Given the description of an element on the screen output the (x, y) to click on. 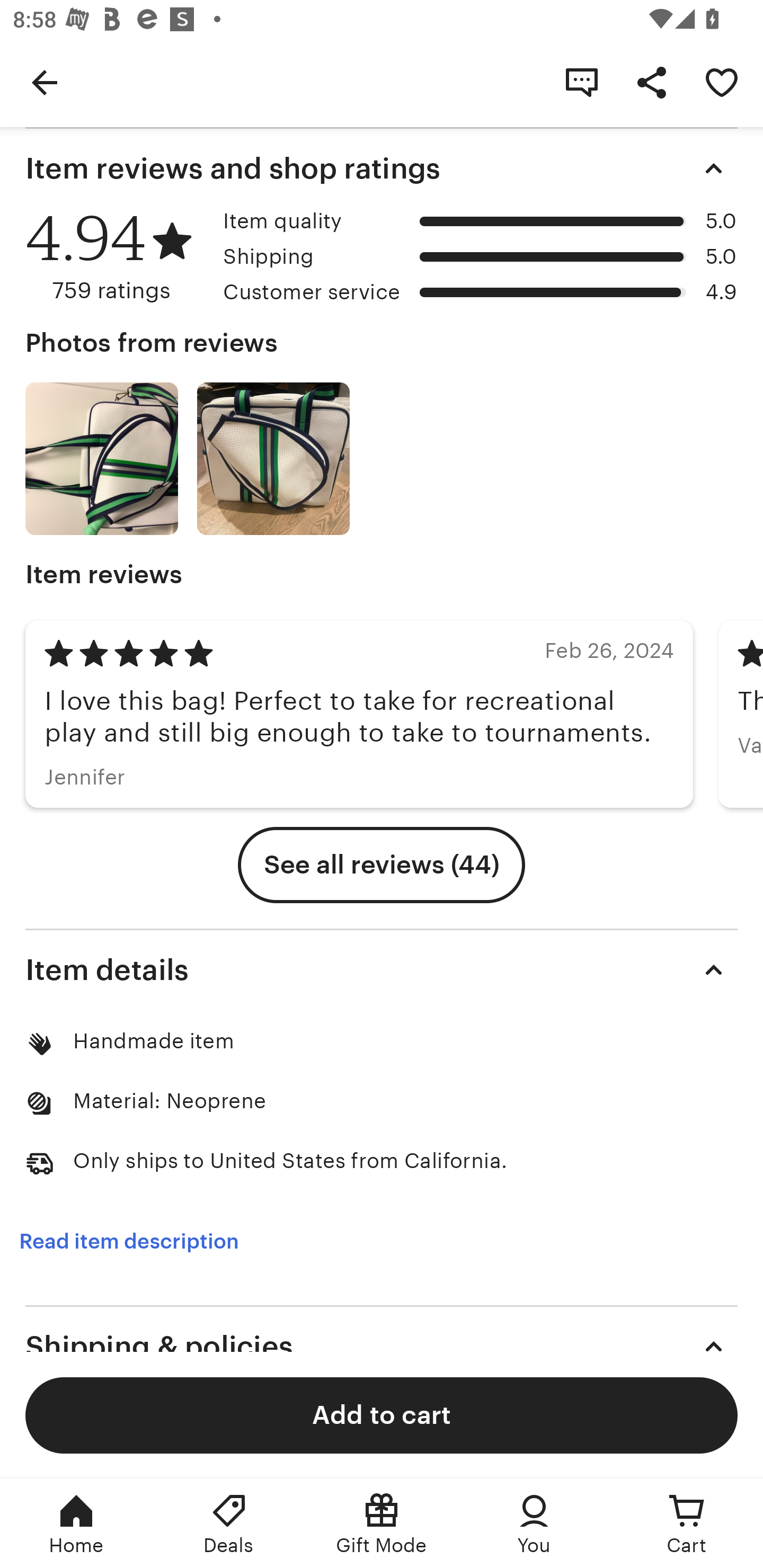
Navigate up (44, 81)
Contact shop (581, 81)
Share (651, 81)
Item reviews and shop ratings (381, 168)
4.94 759 ratings (117, 257)
Photo from review (101, 458)
Photo from review (272, 458)
See all reviews (44) (381, 864)
Item details (381, 969)
Read item description (128, 1241)
Shipping & policies (381, 1345)
Add to cart (381, 1414)
Deals (228, 1523)
Gift Mode (381, 1523)
You (533, 1523)
Cart (686, 1523)
